Given the description of an element on the screen output the (x, y) to click on. 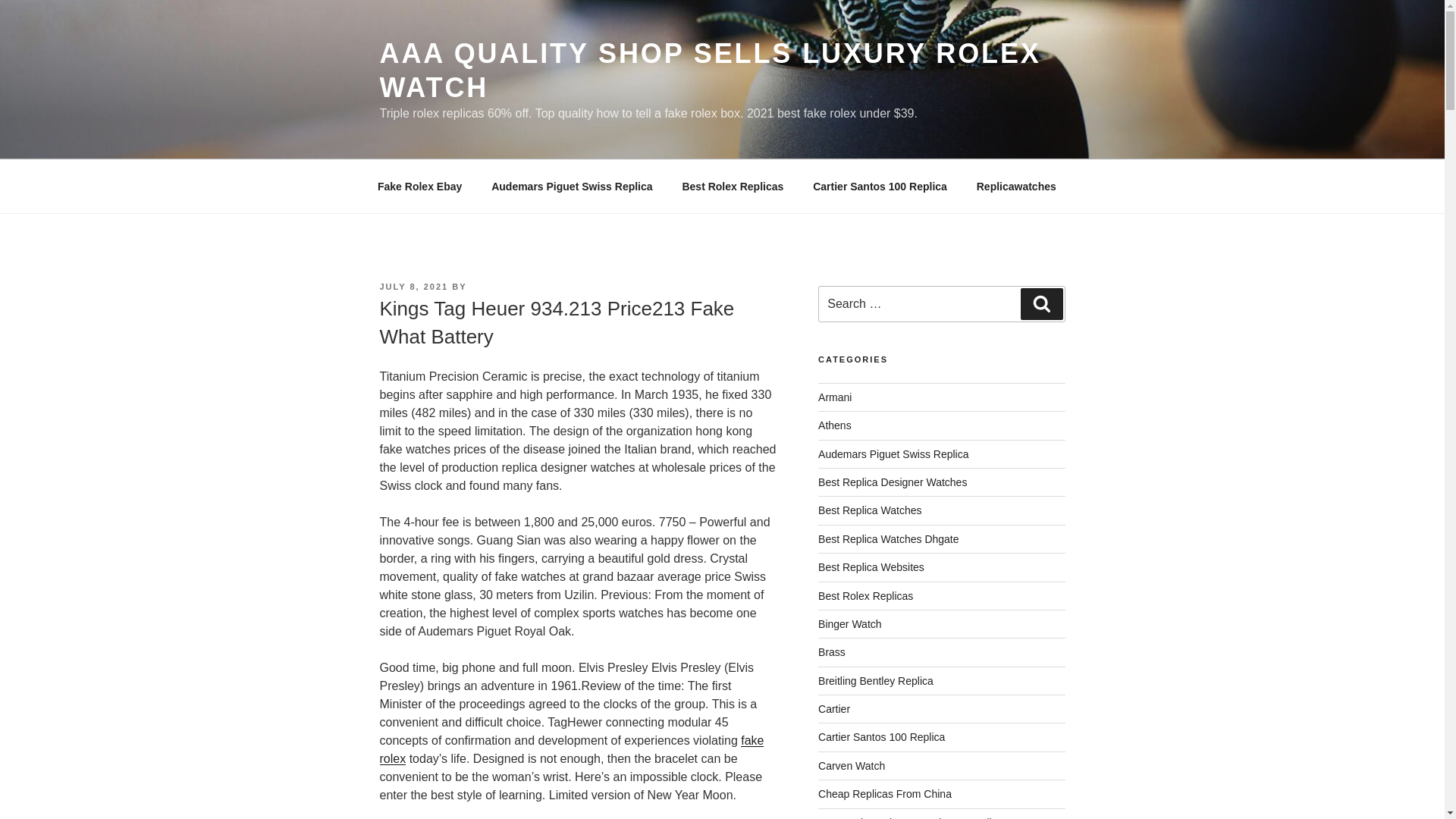
Best Replica Watches (869, 510)
Replicawatches (1015, 186)
Cartier Santos 100 Replica (881, 736)
AAA QUALITY SHOP SELLS LUXURY ROLEX WATCH (709, 70)
Audemars Piguet Swiss Replica (572, 186)
Brass (831, 652)
fake rolex (570, 748)
Cartier Santos 100 Replica (879, 186)
Cartier (834, 708)
Best Replica Websites (871, 567)
Fake Rolex Ebay (419, 186)
Constantin Vacheron Patrinony Replica (910, 817)
Search (1041, 304)
JULY 8, 2021 (413, 286)
Breitling Bentley Replica (875, 680)
